Given the description of an element on the screen output the (x, y) to click on. 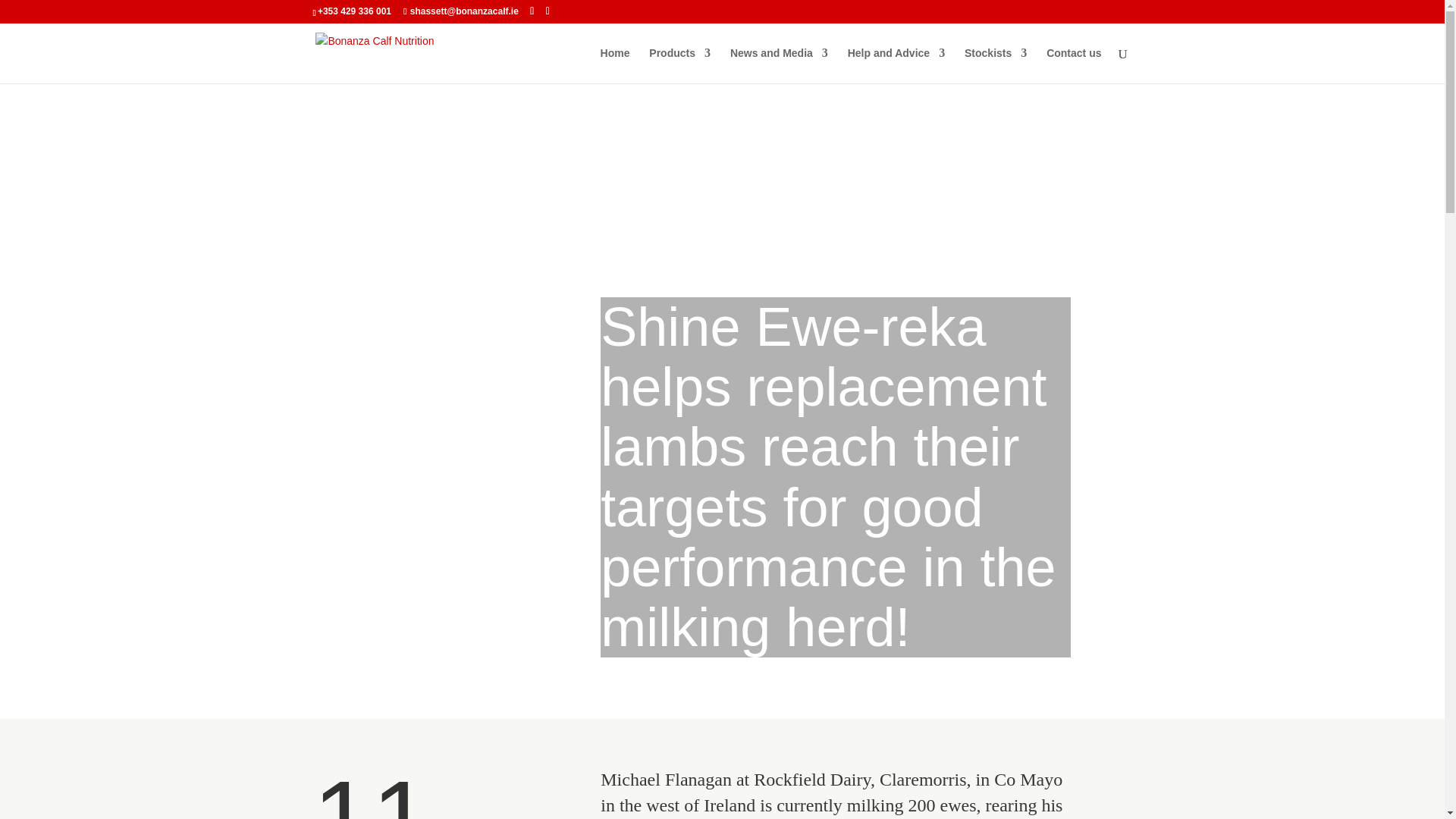
Help and Advice (895, 65)
Contact us (1073, 65)
Products (679, 65)
News and Media (779, 65)
Stockists (994, 65)
